Given the description of an element on the screen output the (x, y) to click on. 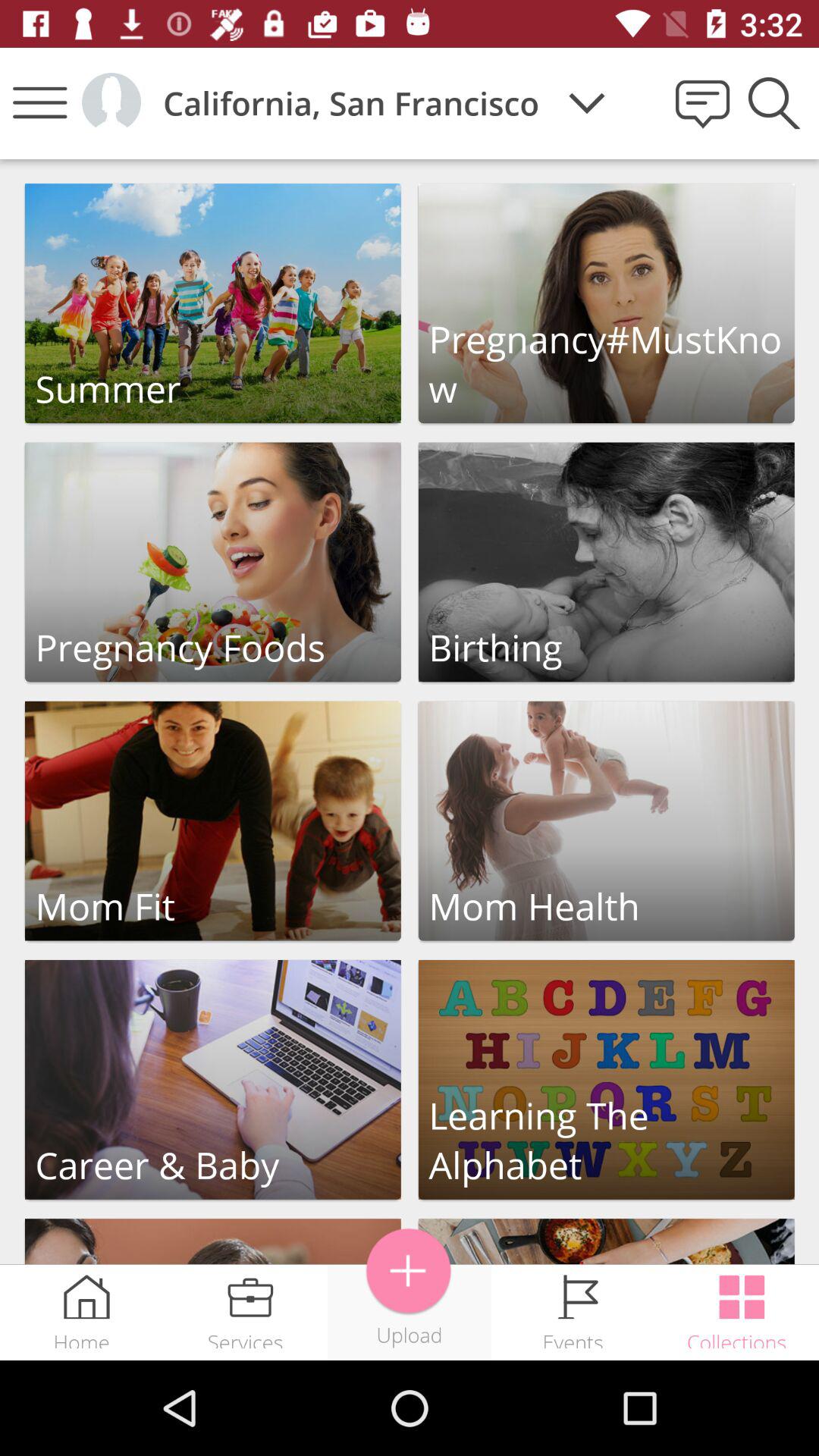
show more (408, 1271)
